Given the description of an element on the screen output the (x, y) to click on. 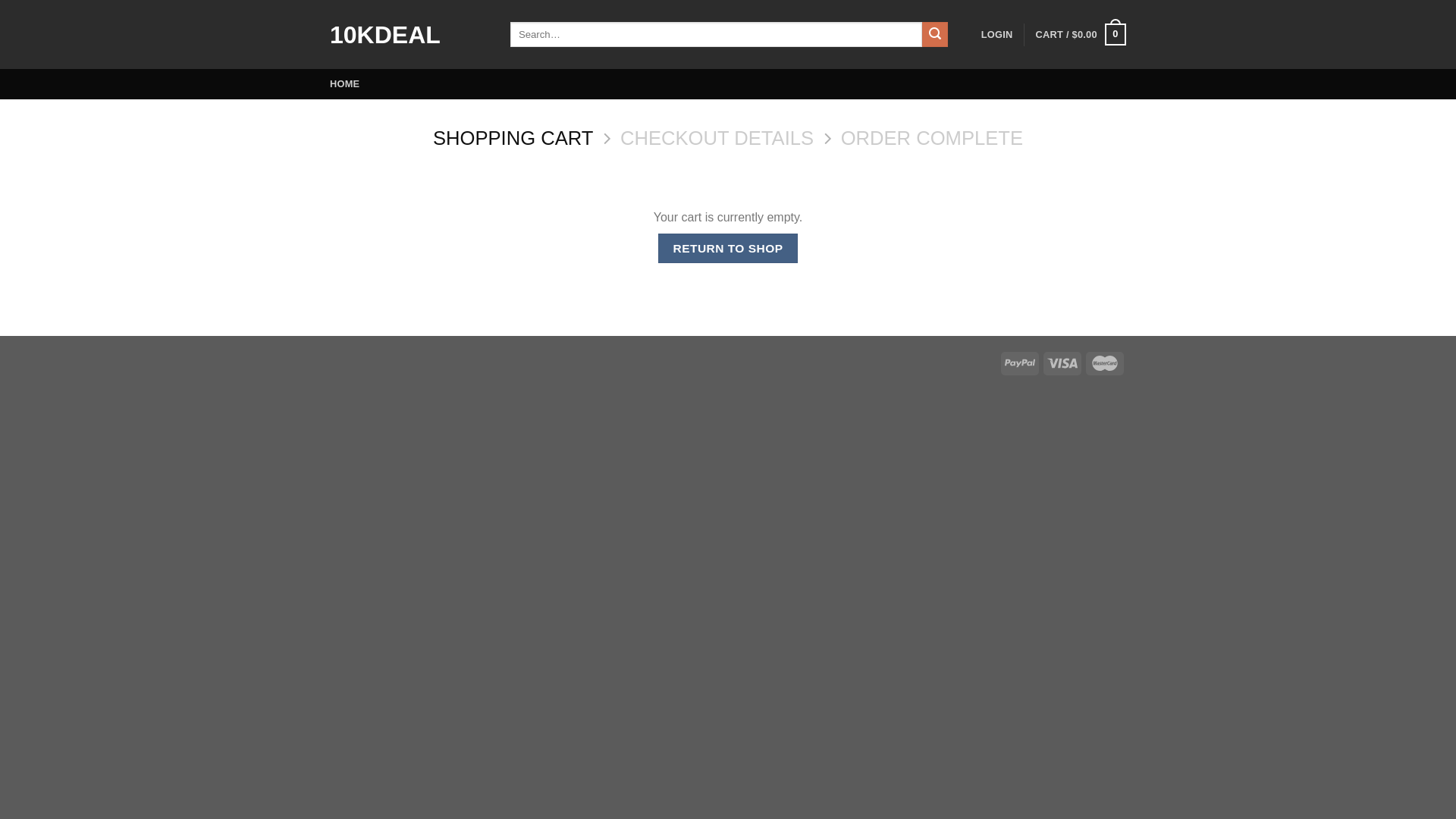
Search Element type: text (934, 34)
CART / $0.00
0 Element type: text (1080, 34)
10KDEAL Element type: text (408, 34)
CHECKOUT DETAILS Element type: text (716, 138)
ORDER COMPLETE Element type: text (931, 138)
RETURN TO SHOP Element type: text (727, 248)
HOME Element type: text (344, 84)
SHOPPING CART Element type: text (513, 138)
LOGIN Element type: text (997, 34)
